Given the description of an element on the screen output the (x, y) to click on. 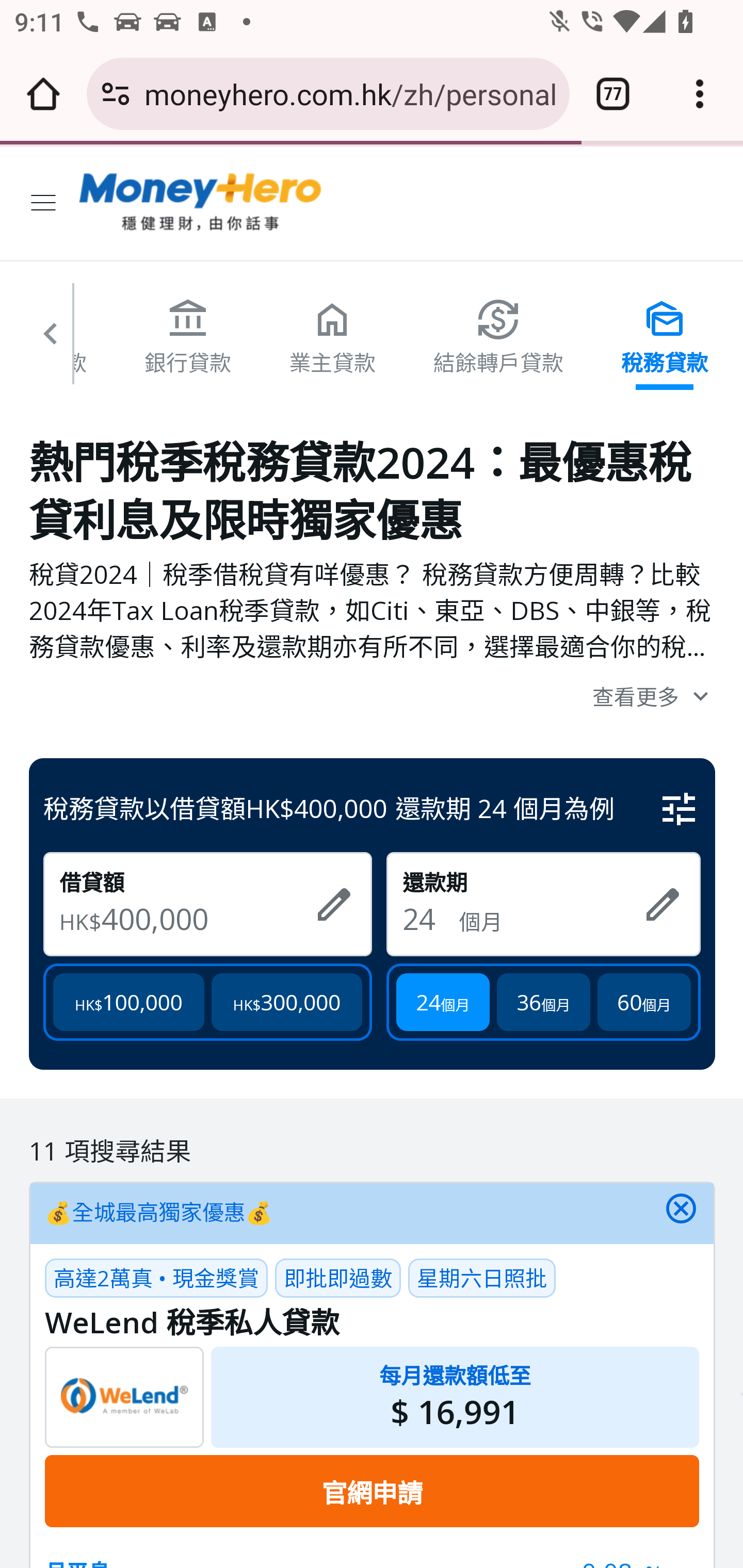
Open the home page (43, 93)
Connection is secure (115, 93)
Switch or close tabs (612, 93)
Customize and control Google Chrome (699, 93)
MH_Logo_ZH_2021-1 (201, 203)
Previous slide (50, 341)
hotel_class 熱門私人貸款 (332, 336)
查看更多 expand_more 查看更多 expand_more (372, 695)
tune (679, 808)
400,000 (200, 917)
24 (430, 917)
cancel (681, 1214)
官網申請 (371, 1490)
